Given the description of an element on the screen output the (x, y) to click on. 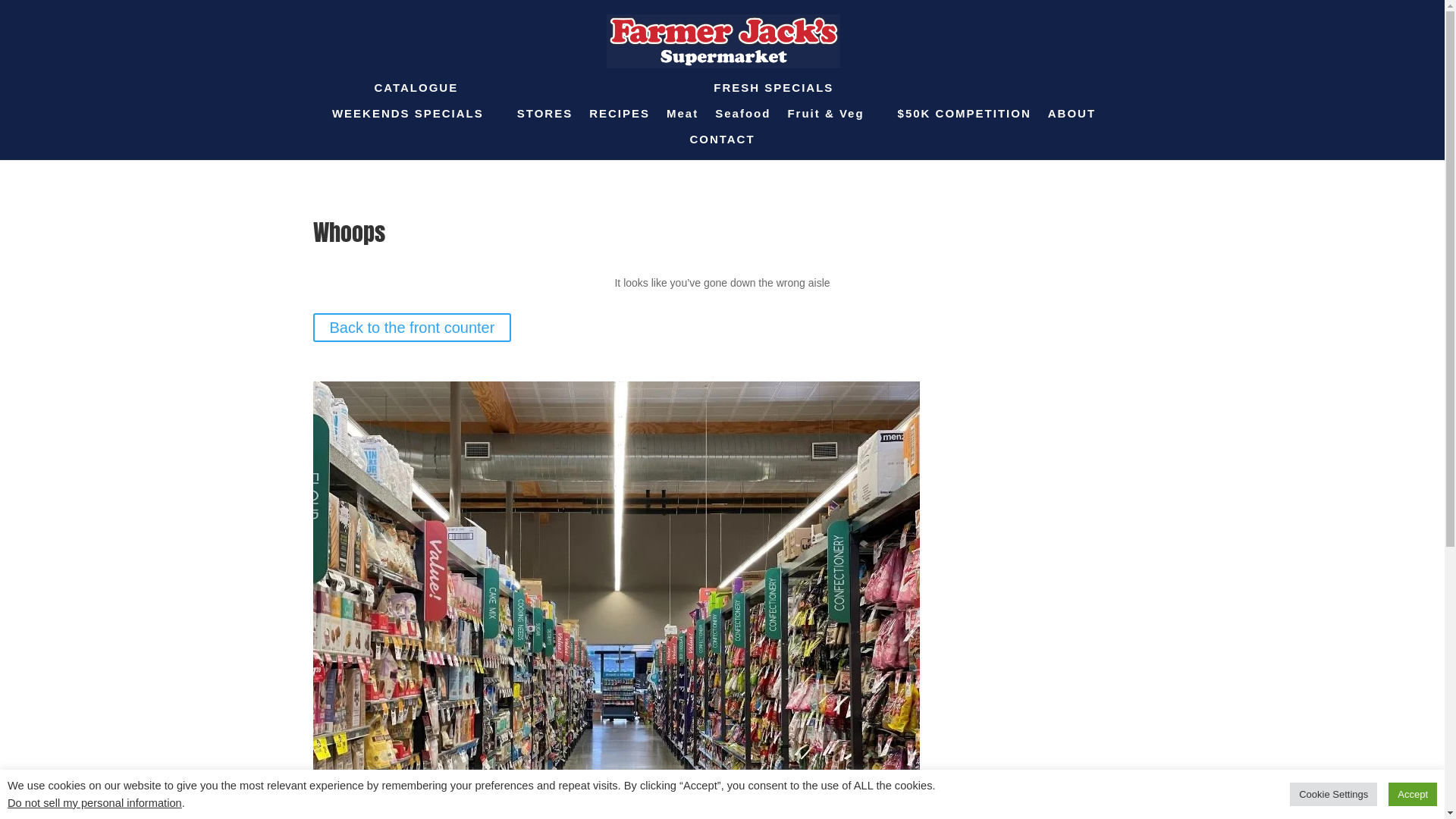
Back to the front counter Element type: text (411, 327)
WEEKENDS SPECIALS Element type: text (407, 113)
Accept Element type: text (1412, 794)
Cookie Settings Element type: text (1333, 794)
Meat Element type: text (682, 113)
STORES Element type: text (544, 121)
Seafood Element type: text (742, 113)
RECIPES Element type: text (619, 121)
CATALOGUE Element type: text (416, 95)
ABOUT Element type: text (1071, 121)
$50K COMPETITION Element type: text (964, 121)
Do not sell my personal information Element type: text (94, 803)
Open toolbar
Accessibility Tools Element type: text (19, 95)
Fruit & Veg Element type: text (825, 113)
CONTACT Element type: text (721, 147)
FRESH SPECIALS Element type: text (773, 95)
